Given the description of an element on the screen output the (x, y) to click on. 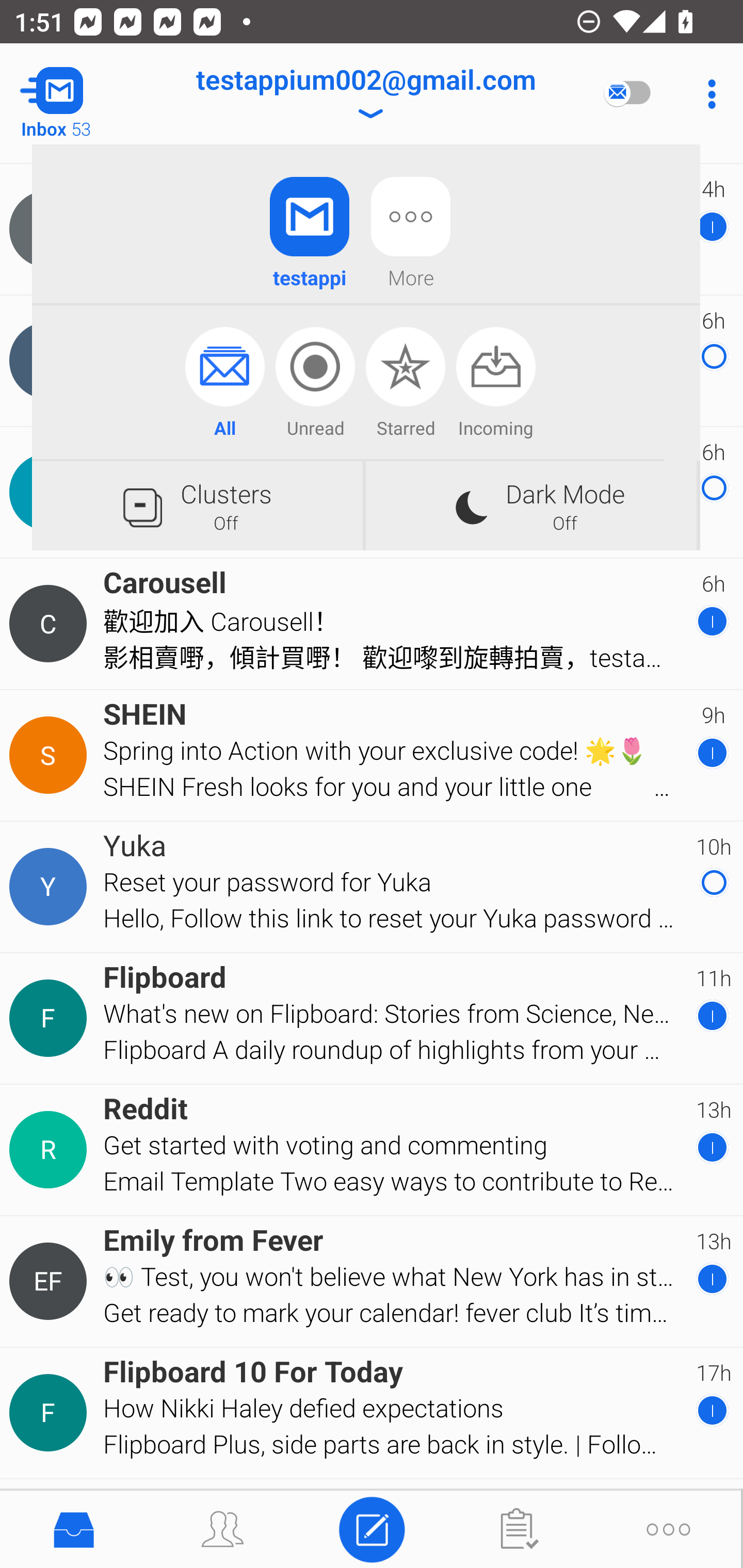
Clusters Off (196, 505)
Dark Mode Off (530, 505)
